Given the description of an element on the screen output the (x, y) to click on. 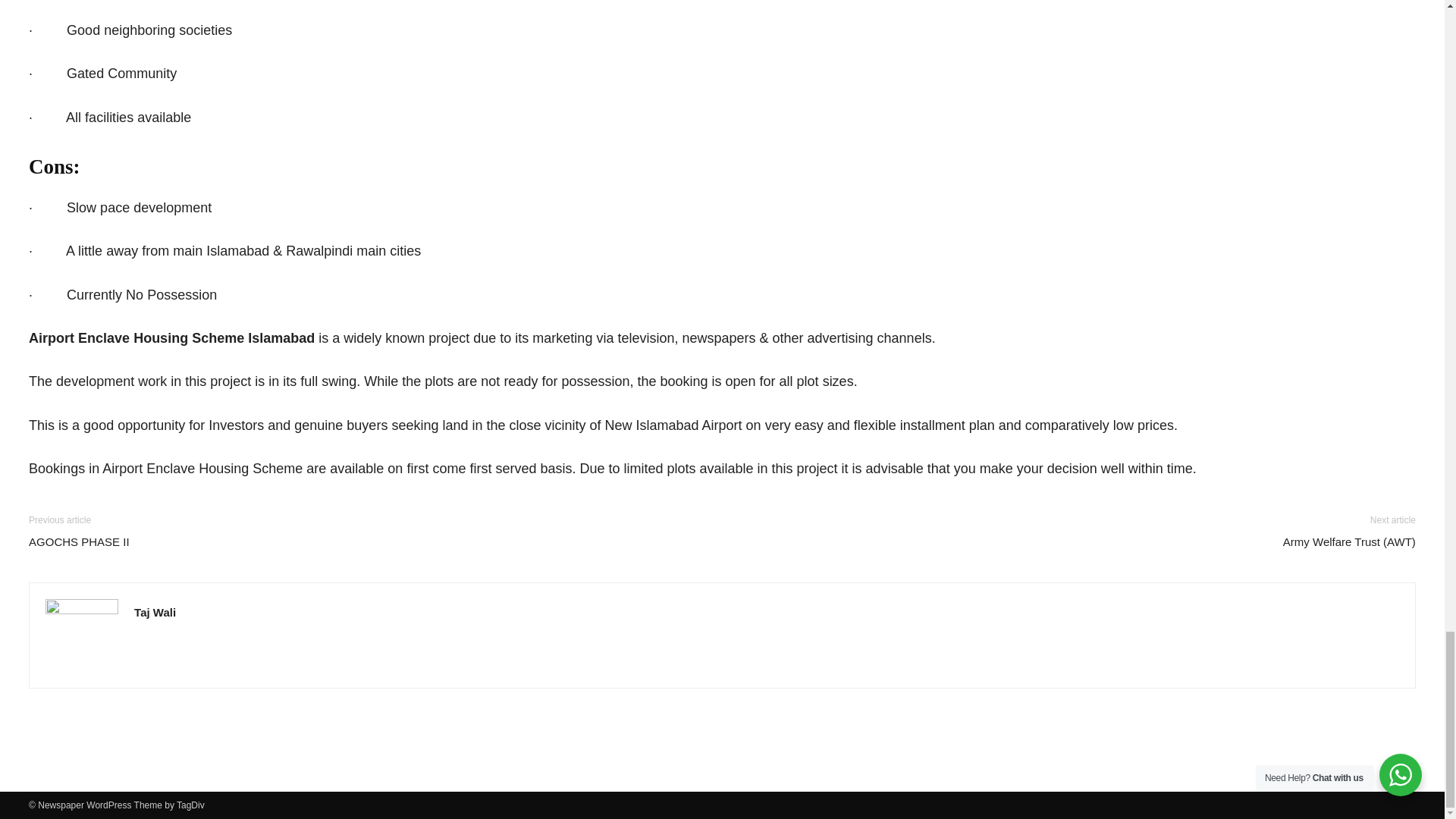
AGOCHS PHASE II (79, 541)
Taj Wali (154, 612)
